Given the description of an element on the screen output the (x, y) to click on. 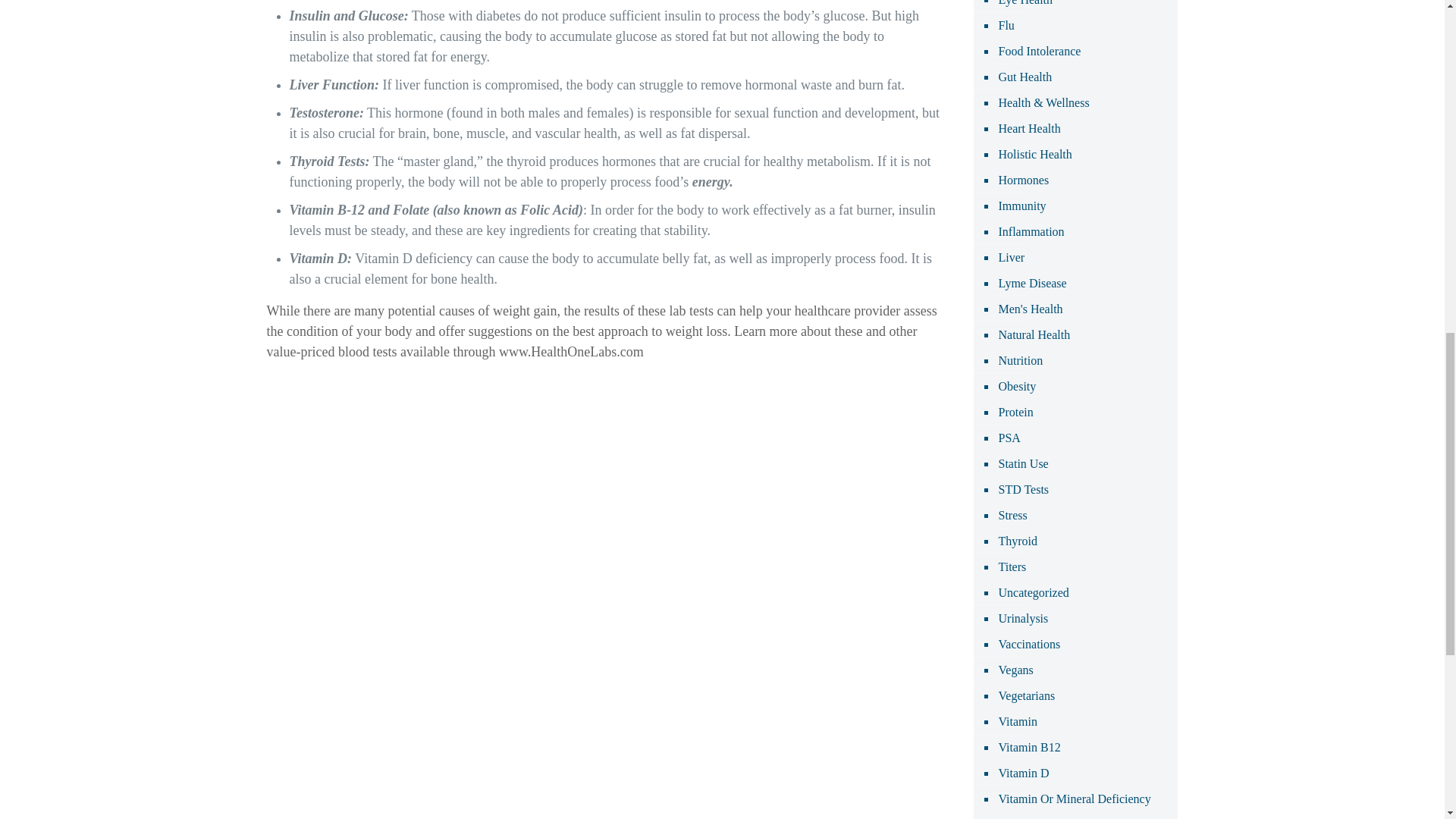
Holistic Health (1033, 154)
Gut Health (1023, 77)
Eye Health (1023, 6)
Immunity (1020, 206)
Food Intolerance (1038, 51)
Flu (1004, 25)
Hormones (1022, 180)
Heart Health (1028, 128)
